Given the description of an element on the screen output the (x, y) to click on. 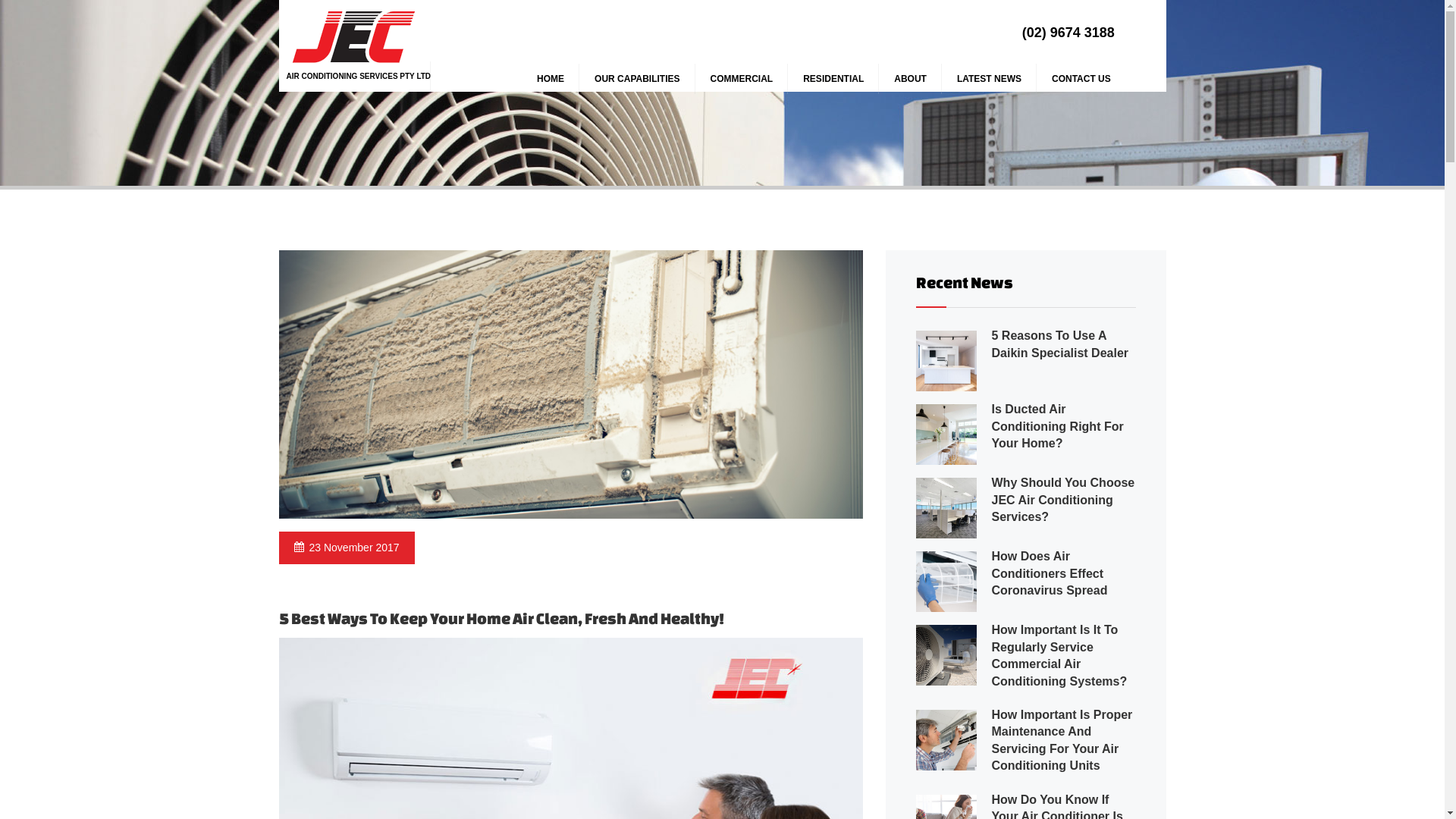
Why Should You Choose JEC Air Conditioning Services? Element type: text (1063, 499)
(02) 9674 3188 Element type: text (1068, 32)
Is Ducted Air Conditioning Right For Your Home? Element type: text (1057, 425)
How Does Air Conditioners Effect Coronavirus Spread Element type: text (1049, 572)
CONTACT US Element type: text (1081, 78)
LATEST NEWS Element type: text (988, 78)
HOME Element type: text (550, 78)
5 Reasons To Use A Daikin Specialist Dealer Element type: text (1060, 343)
Contact Us : (02) 9674 3188 Element type: text (985, 647)
OUR CAPABILITIES Element type: text (636, 78)
RESIDENTIAL Element type: text (832, 78)
COMMERCIAL Element type: text (741, 78)
ABOUT Element type: text (909, 78)
